Given the description of an element on the screen output the (x, y) to click on. 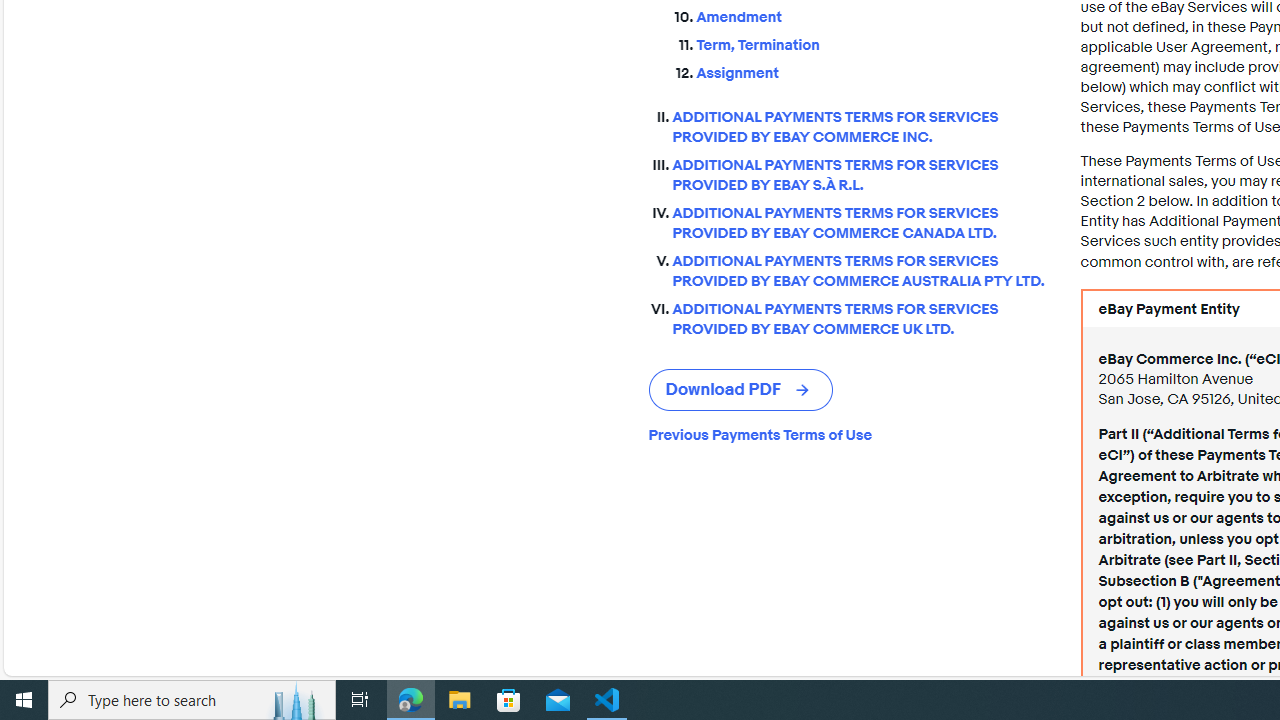
Download PDF  (740, 389)
Assignment (872, 73)
Assignment (872, 69)
Previous Payments Terms of Use (848, 434)
Term, Termination (872, 45)
Amendment (872, 17)
